Given the description of an element on the screen output the (x, y) to click on. 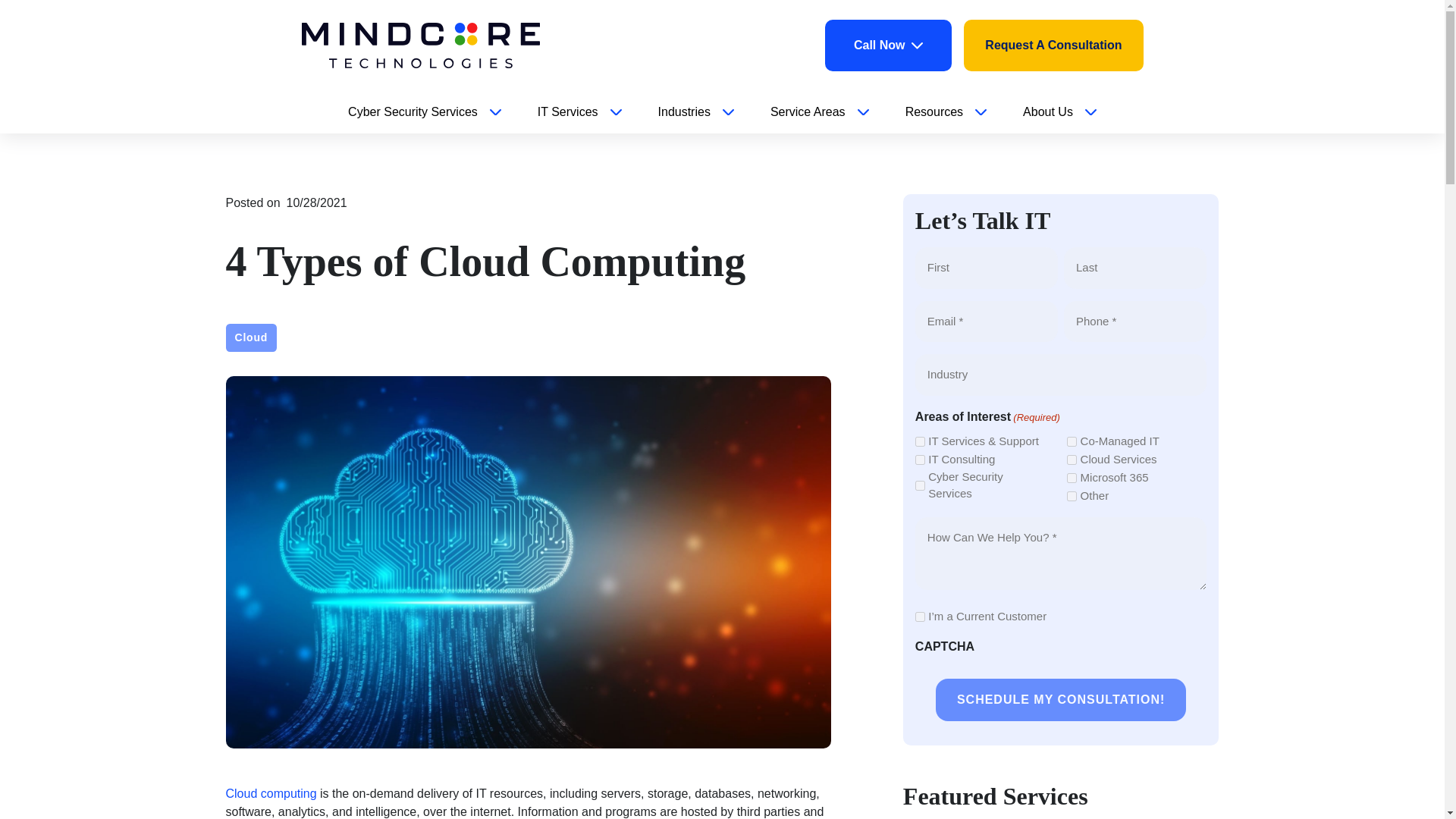
Other (1072, 496)
Cloud Services (1072, 460)
Microsoft 365 (1072, 478)
Co-Managed IT (1072, 441)
IT Consulting (919, 460)
Cyber Security Services (919, 485)
Schedule My Consultation! (1061, 699)
